Given the description of an element on the screen output the (x, y) to click on. 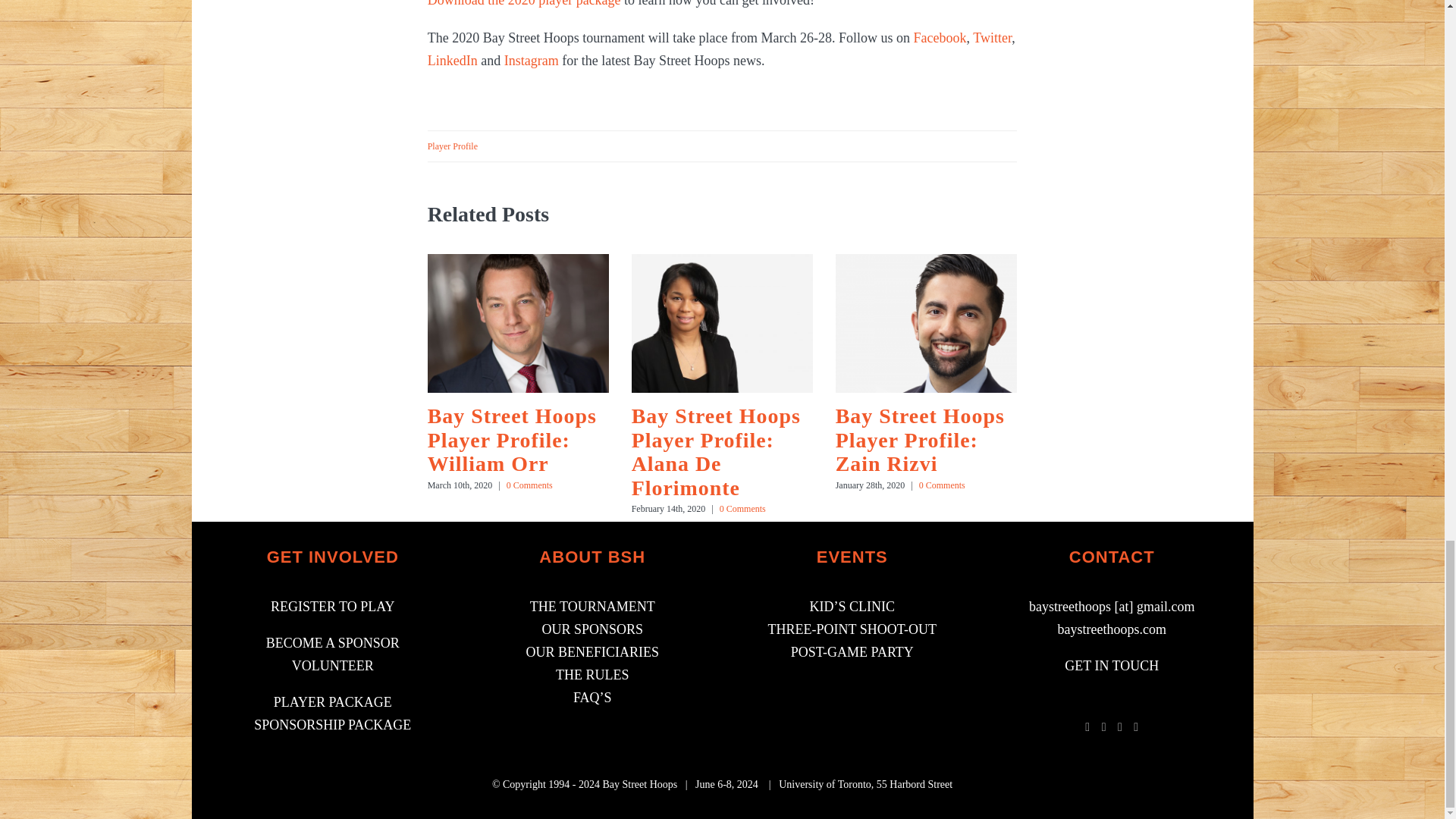
Bay Street Hoops Player Profile: Alana De Florimonte (715, 451)
Bay Street Hoops Player Profile: William Orr (512, 439)
Bay Street Hoops Player Profile: Zain Rizvi (919, 439)
